Given the description of an element on the screen output the (x, y) to click on. 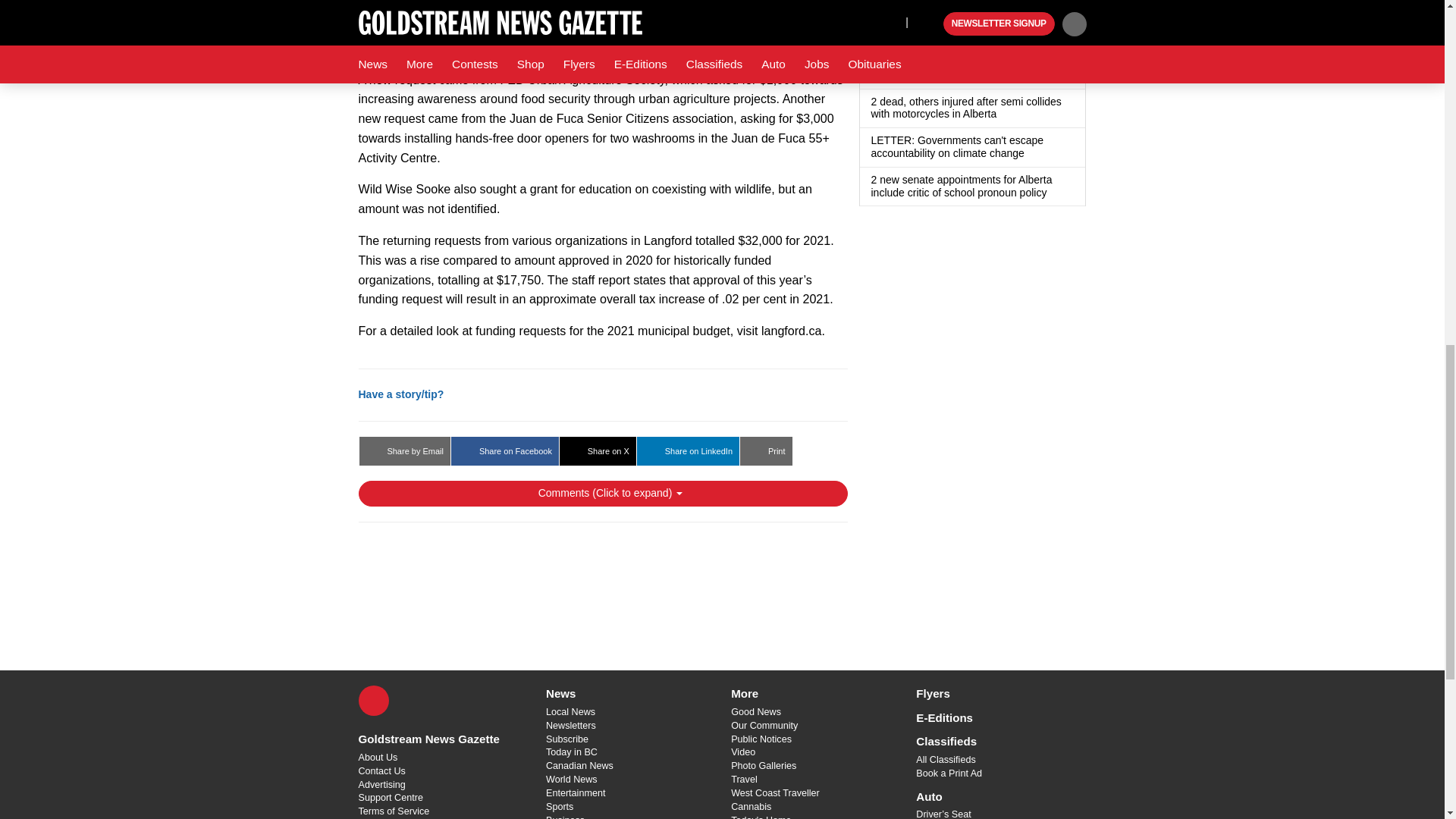
Show Comments (602, 493)
X (373, 700)
Has a gallery (1050, 36)
